Given the description of an element on the screen output the (x, y) to click on. 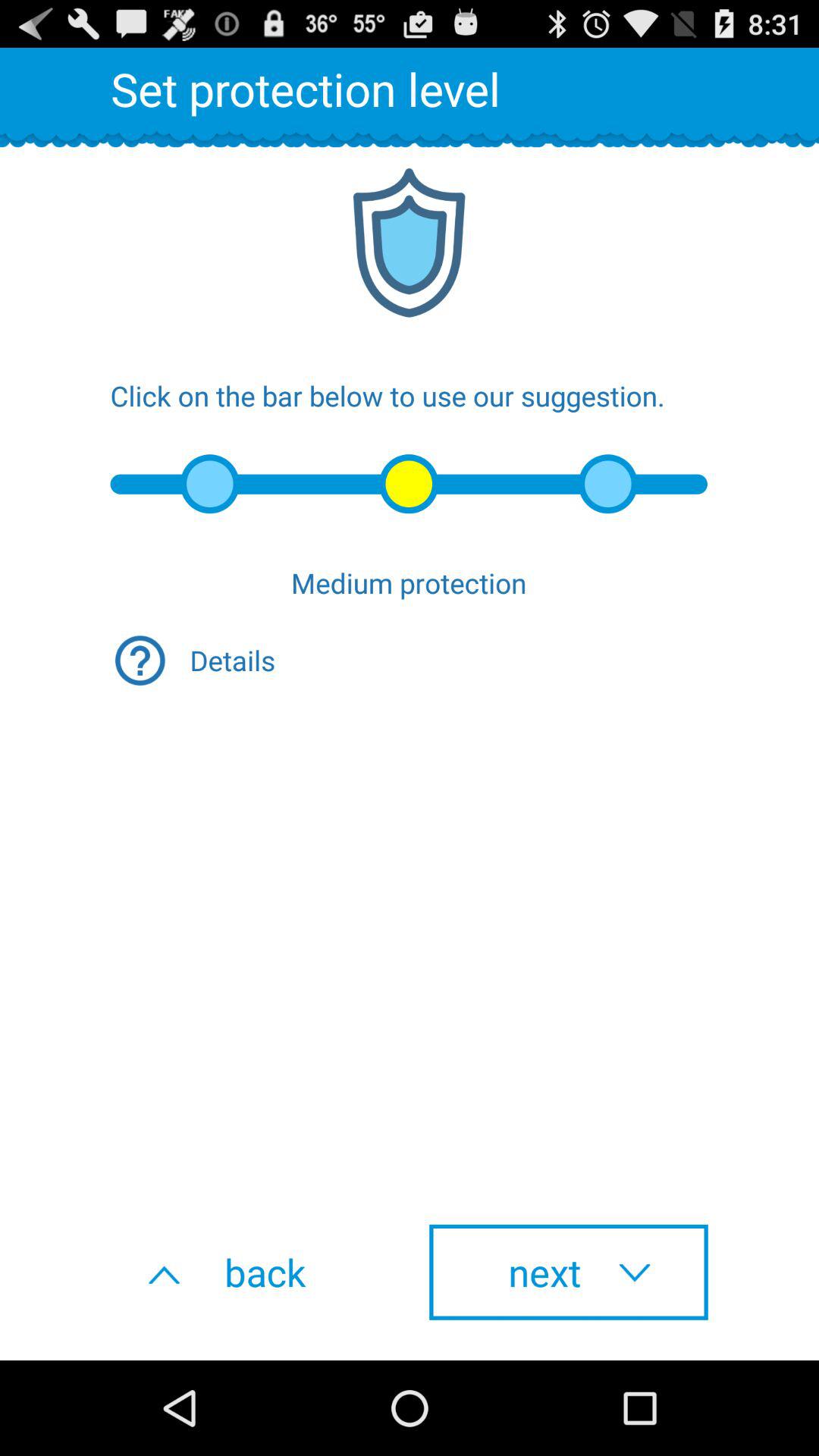
tap the icon next to back icon (568, 1272)
